Given the description of an element on the screen output the (x, y) to click on. 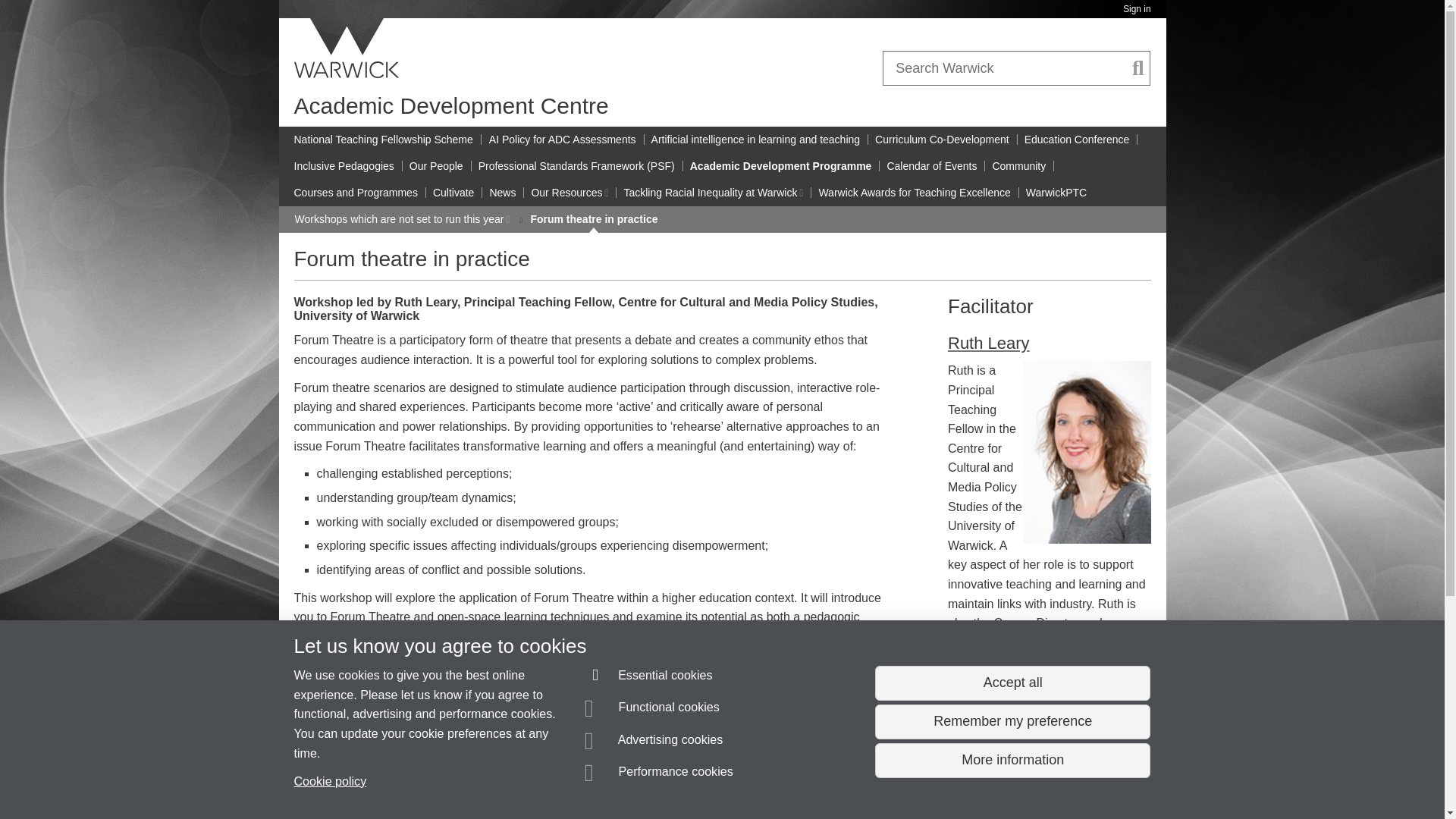
Our People (436, 166)
Academic Development Programme (781, 166)
Curriculum Co-Development (942, 139)
University of Warwick homepage (346, 48)
Artificial intelligence in learning and teaching (755, 139)
Academic Development Centre (451, 105)
Courses and Programmes (355, 192)
Community (1018, 166)
